Given the description of an element on the screen output the (x, y) to click on. 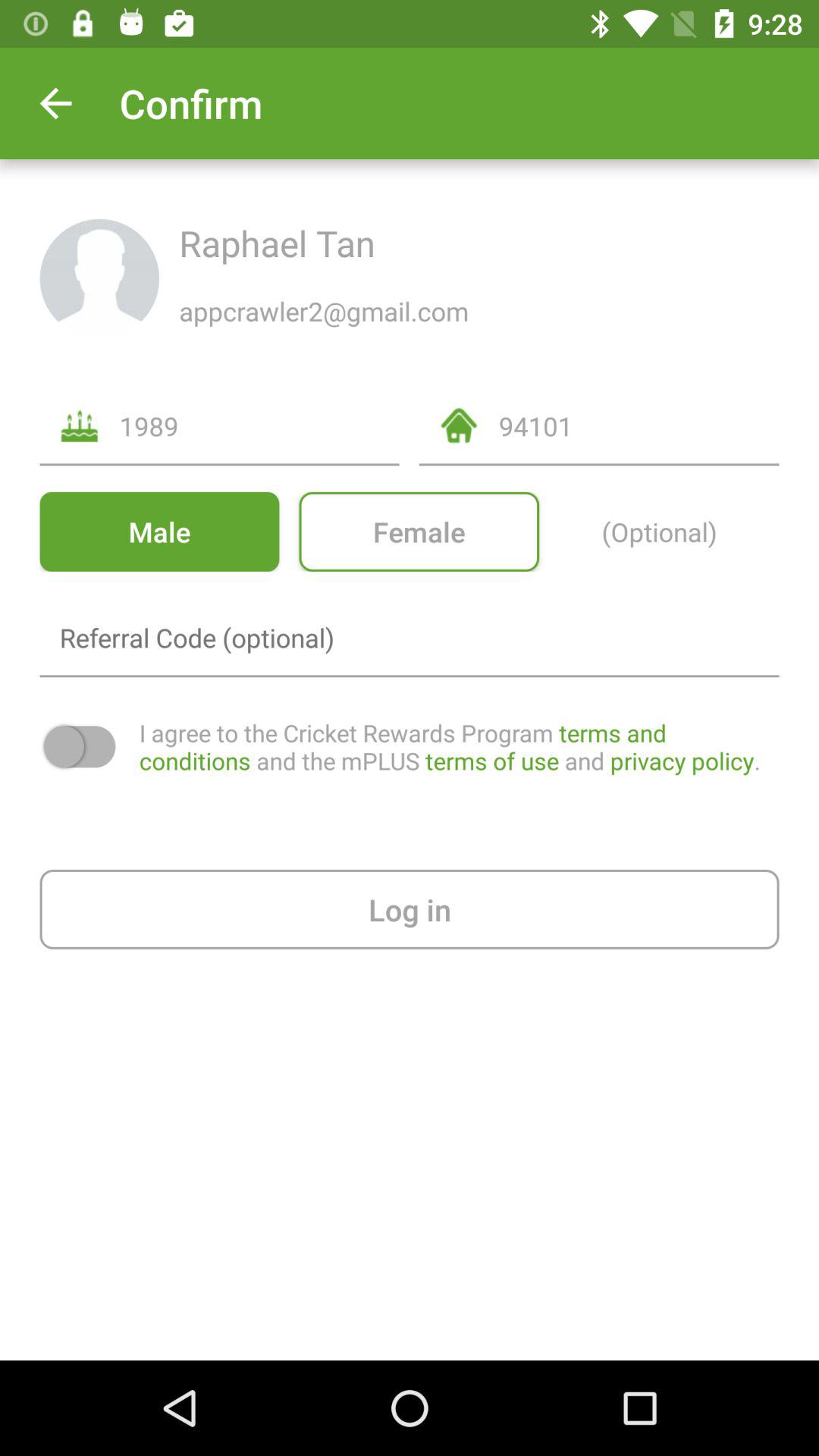
choose the icon to the right of the male icon (419, 531)
